Given the description of an element on the screen output the (x, y) to click on. 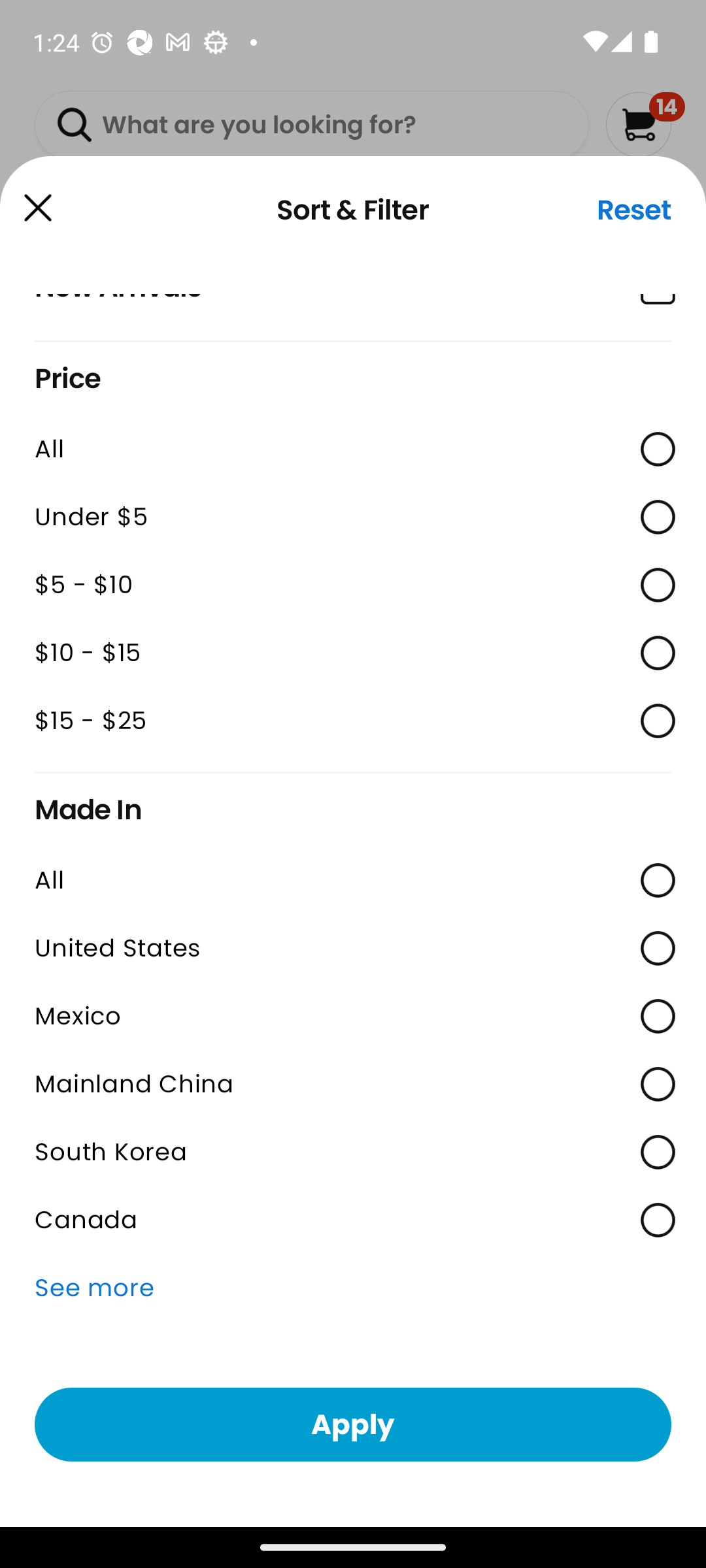
Reset (633, 209)
See more (353, 1287)
Apply (352, 1424)
